Given the description of an element on the screen output the (x, y) to click on. 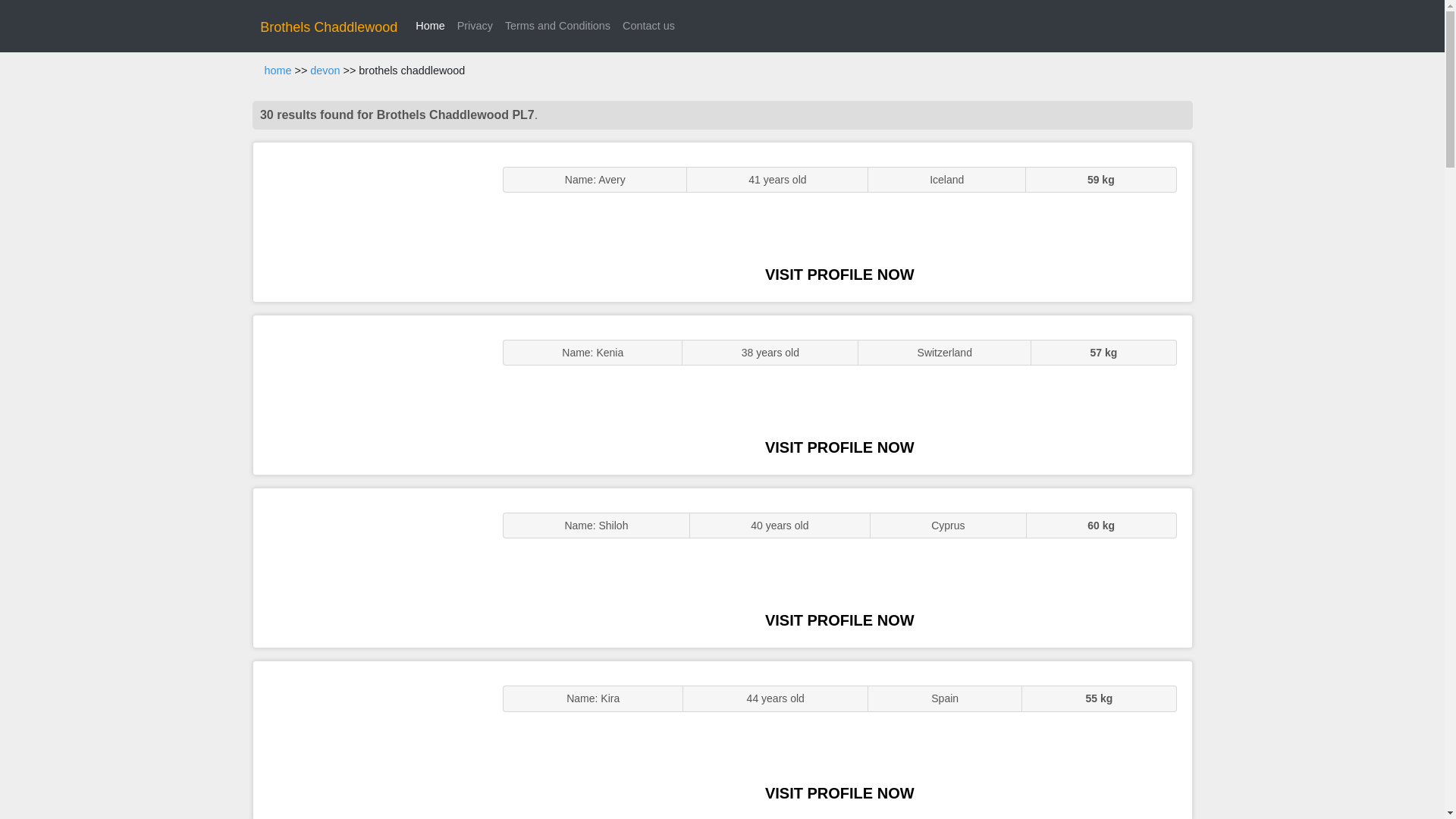
GFE (370, 395)
VISIT PROFILE NOW (839, 792)
Sexy (370, 567)
Sluts (370, 739)
VISIT PROFILE NOW (839, 274)
Contact us (648, 25)
VISIT PROFILE NOW (839, 619)
home (277, 70)
Brothels Chaddlewood (328, 27)
Terms and Conditions (557, 25)
